Given the description of an element on the screen output the (x, y) to click on. 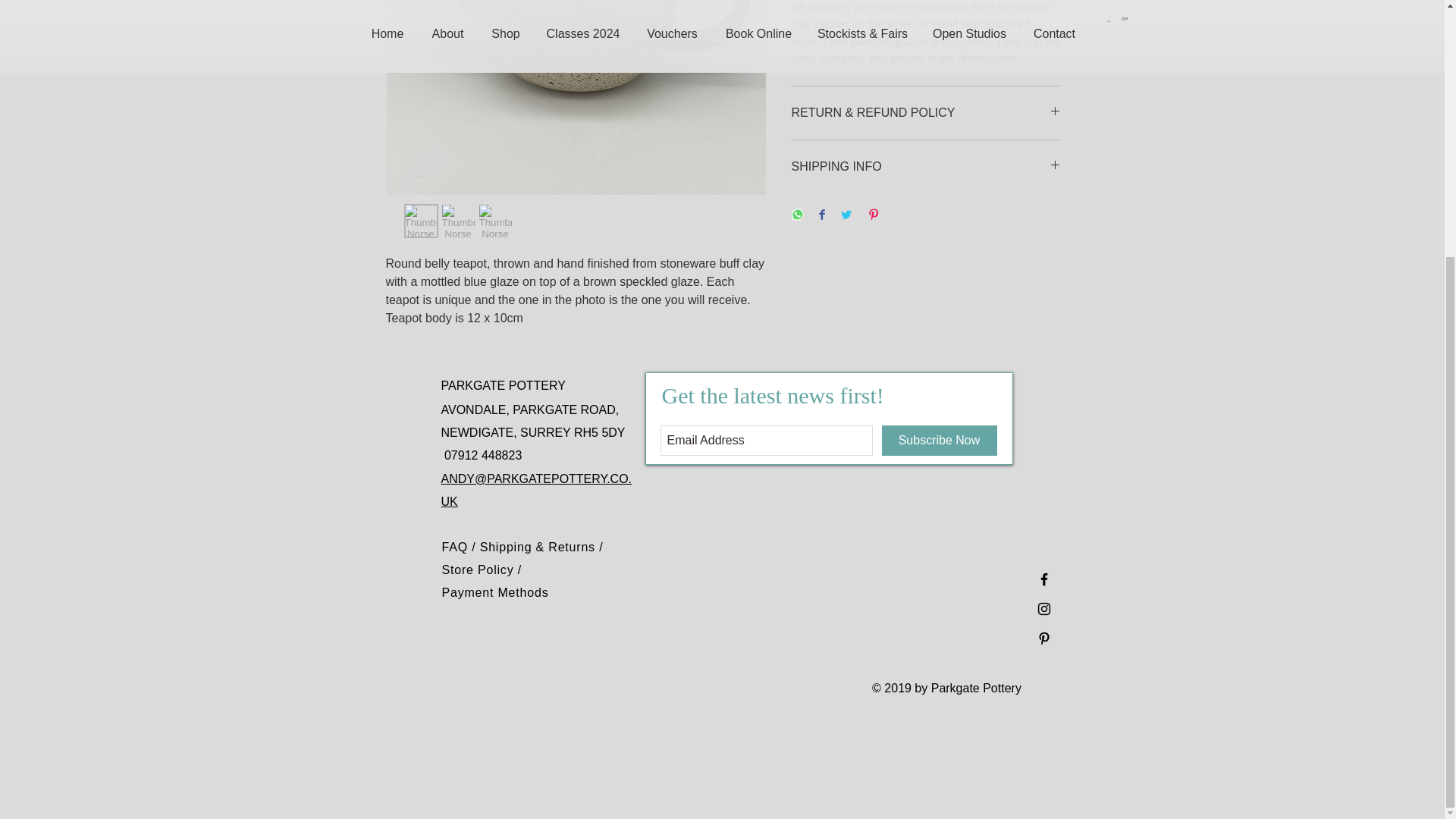
Google Maps (857, 602)
